Given the description of an element on the screen output the (x, y) to click on. 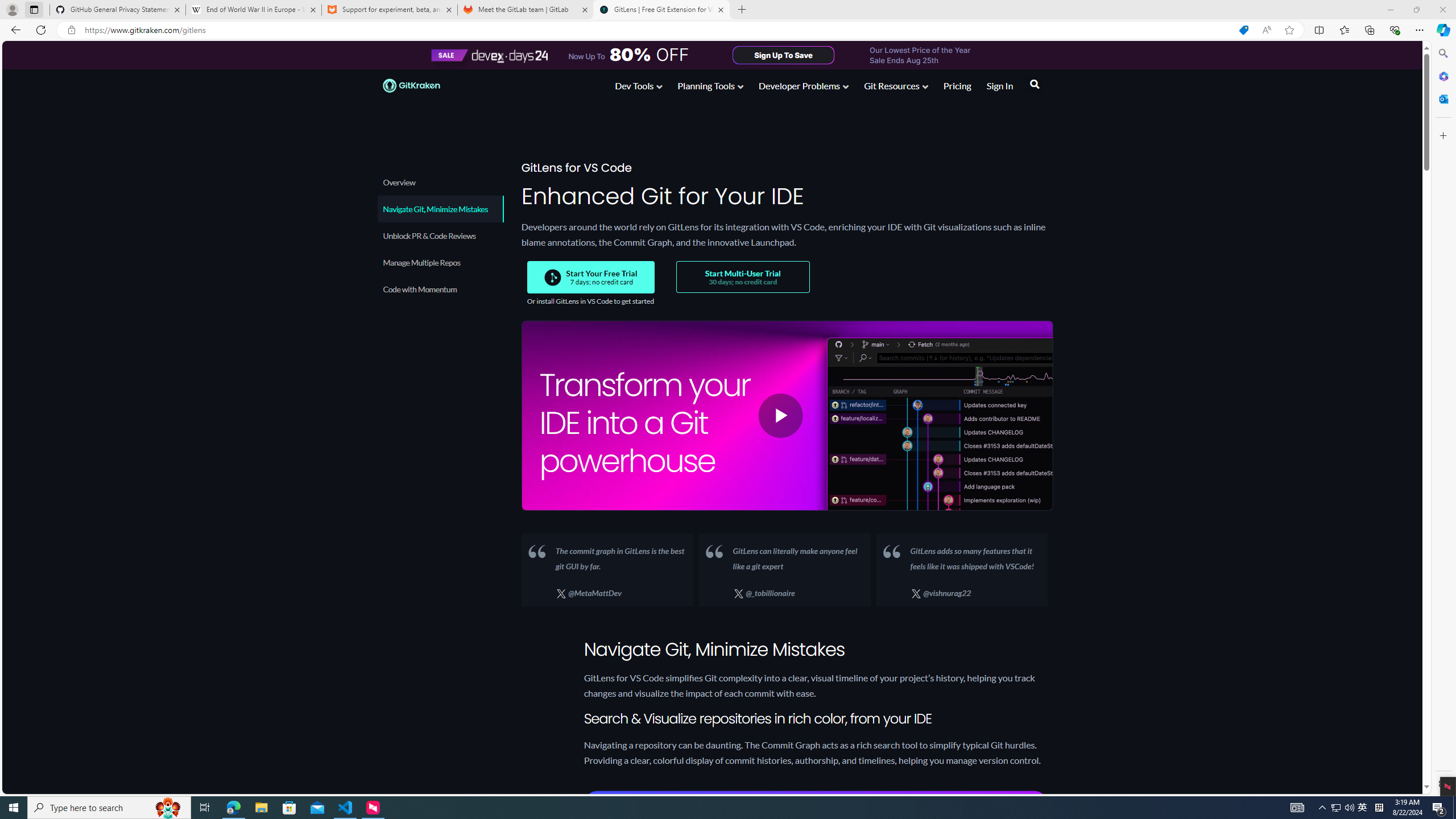
Unblock PR & Code Reviews (439, 235)
Navigate Git, Minimize Mistakes (439, 209)
Navigate Git, Minimize Mistakes (440, 208)
